Given the description of an element on the screen output the (x, y) to click on. 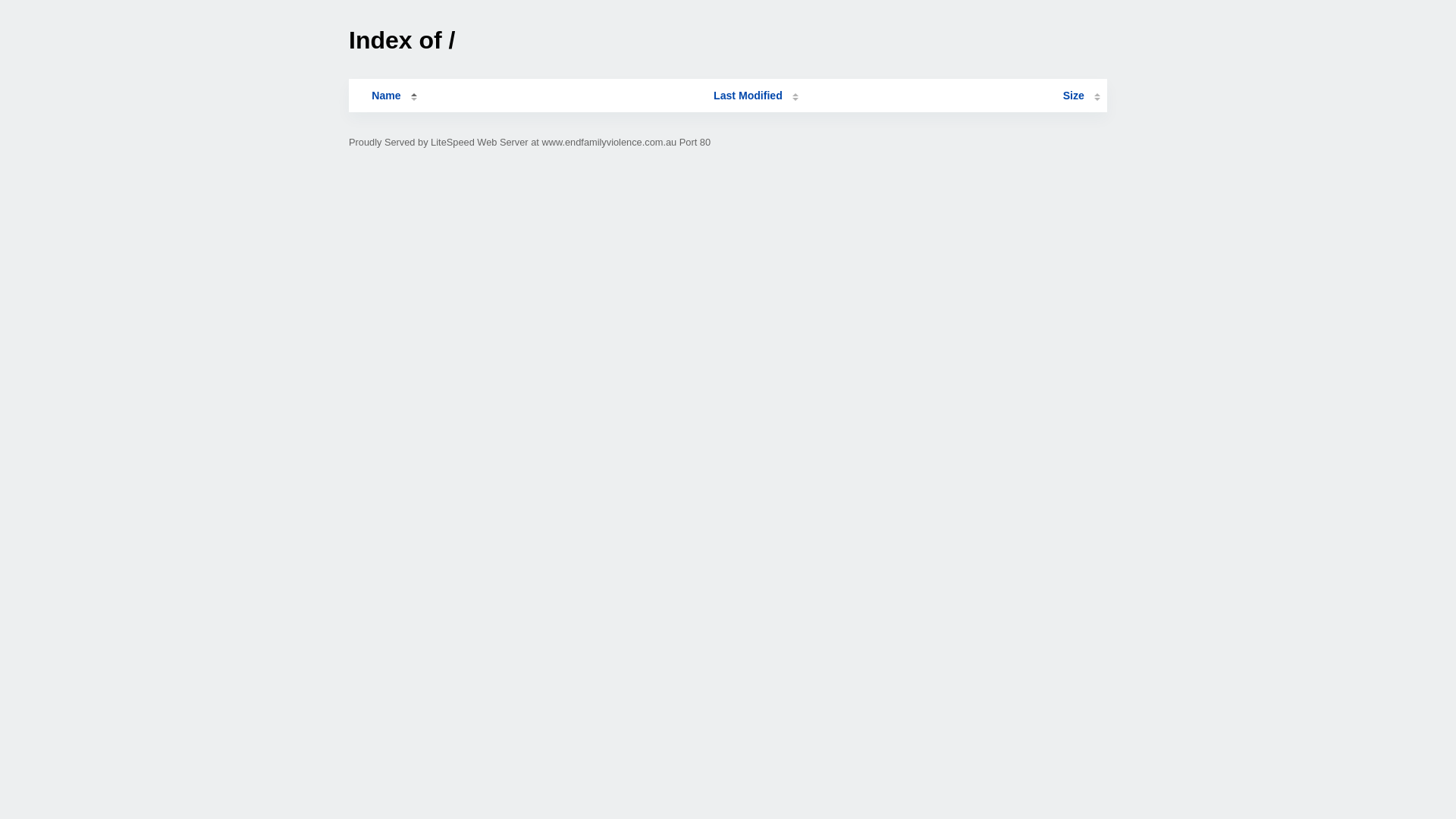
Last Modified Element type: text (755, 95)
Size Element type: text (1081, 95)
Name Element type: text (385, 95)
